Given the description of an element on the screen output the (x, y) to click on. 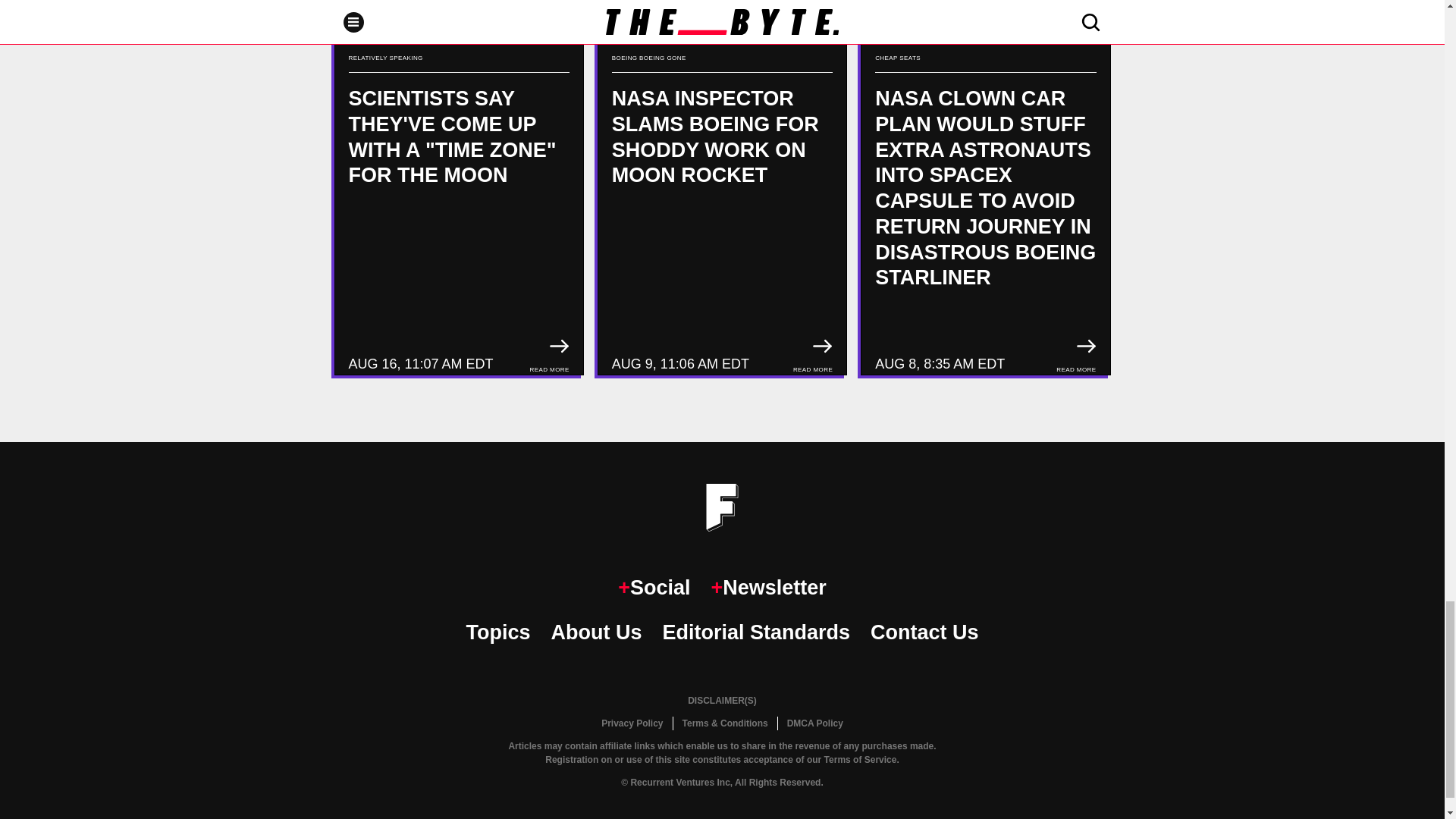
Topics (497, 632)
Editorial Standards (756, 632)
Privacy Policy (631, 723)
Contact Us (924, 632)
DMCA Policy (814, 723)
About Us (596, 632)
